Given the description of an element on the screen output the (x, y) to click on. 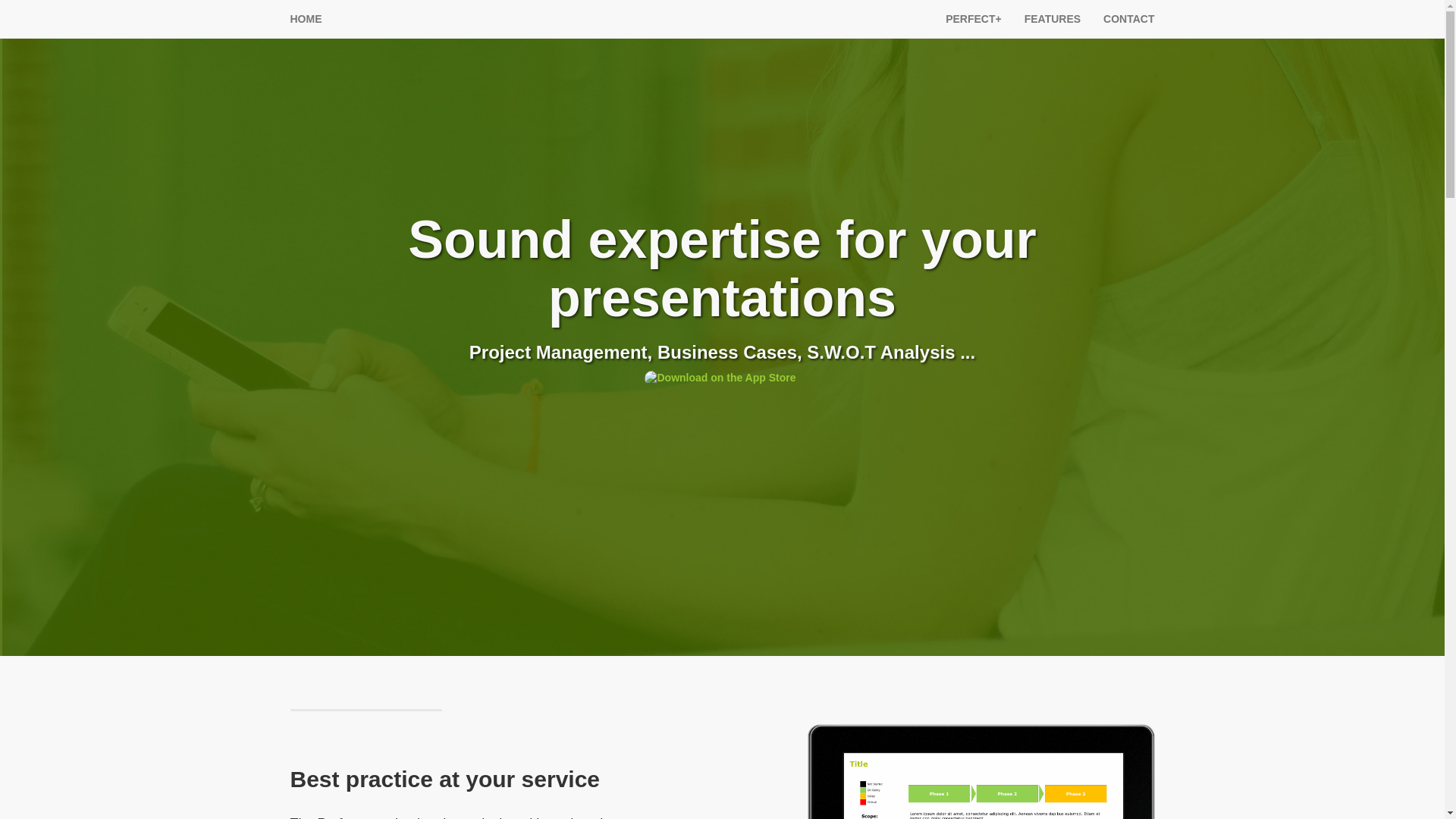
CONTACT (1129, 18)
FEATURES (1052, 18)
HOME (306, 18)
